Given the description of an element on the screen output the (x, y) to click on. 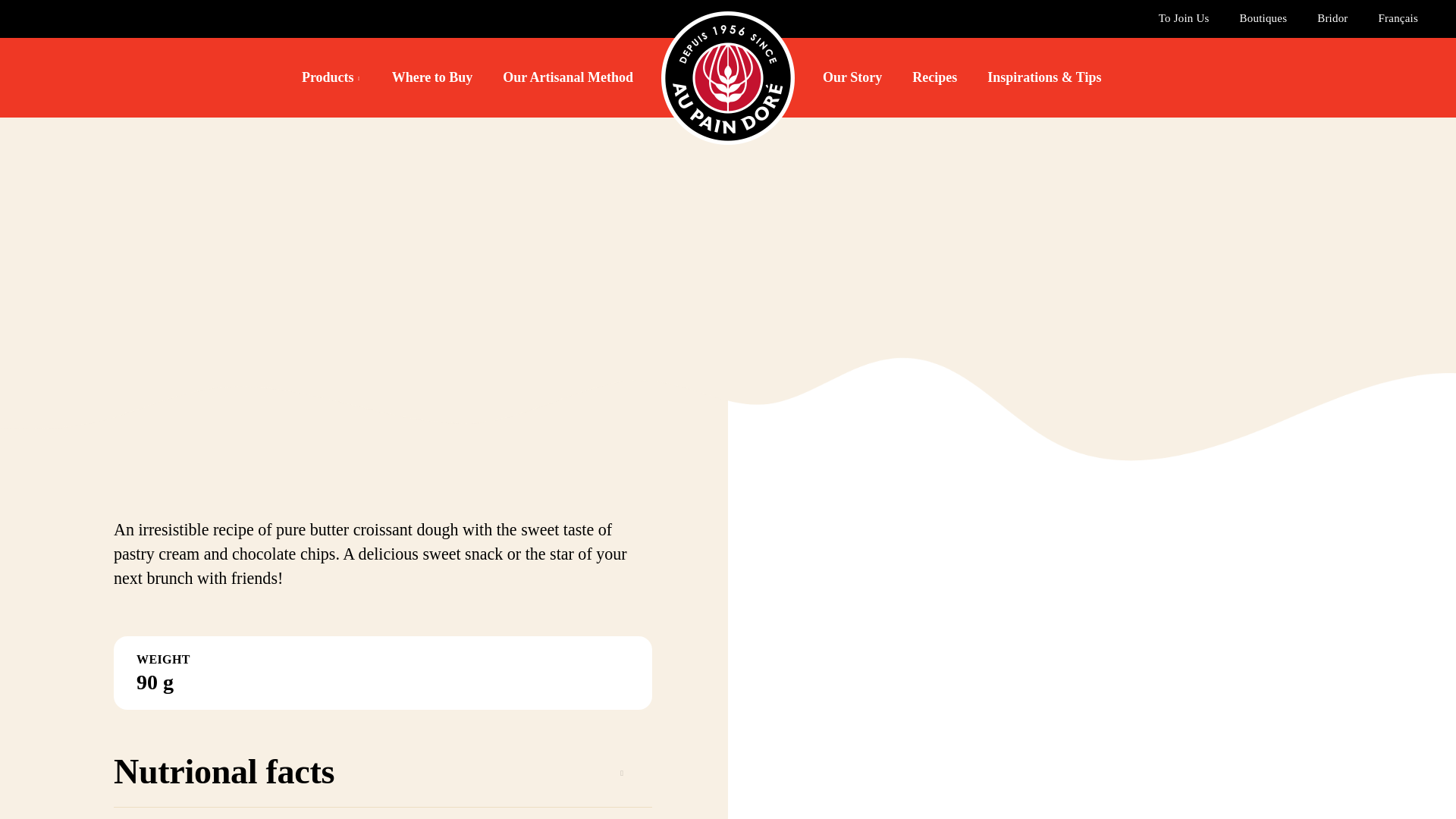
Boutiques (1263, 18)
Our Artisanal Method (567, 76)
Our Story (852, 76)
Products (331, 76)
Nutrional facts (382, 780)
menu.logo.title (727, 75)
Where to Buy (432, 76)
To Join Us (1183, 18)
Recipes (934, 76)
Bridor (1332, 18)
